Given the description of an element on the screen output the (x, y) to click on. 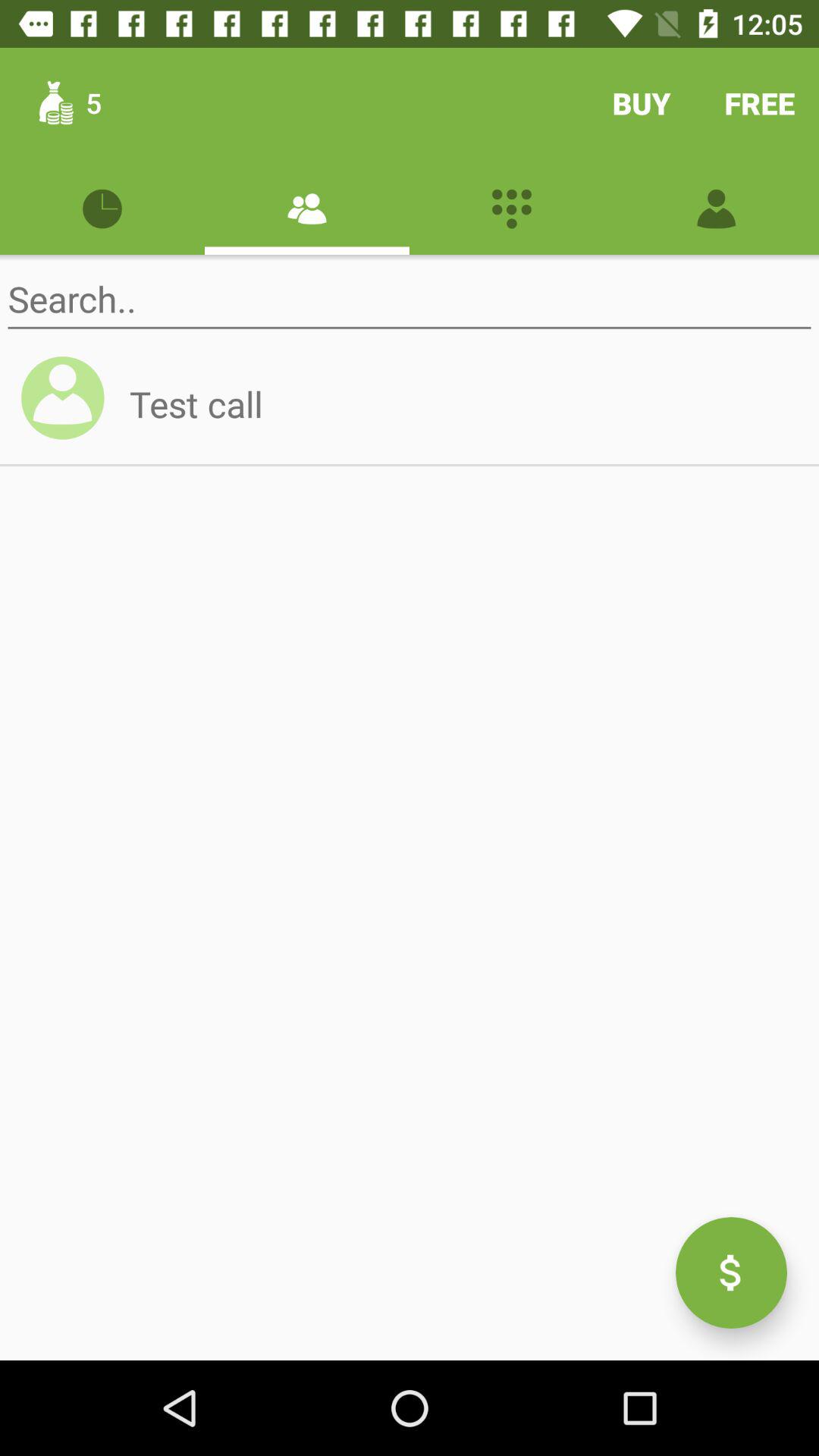
click on the first icon in the menu bar (102, 206)
click the button free on the top right corner of the web page (760, 102)
click the button next to free (641, 102)
click on people icon right to timer icon (306, 206)
